Given the description of an element on the screen output the (x, y) to click on. 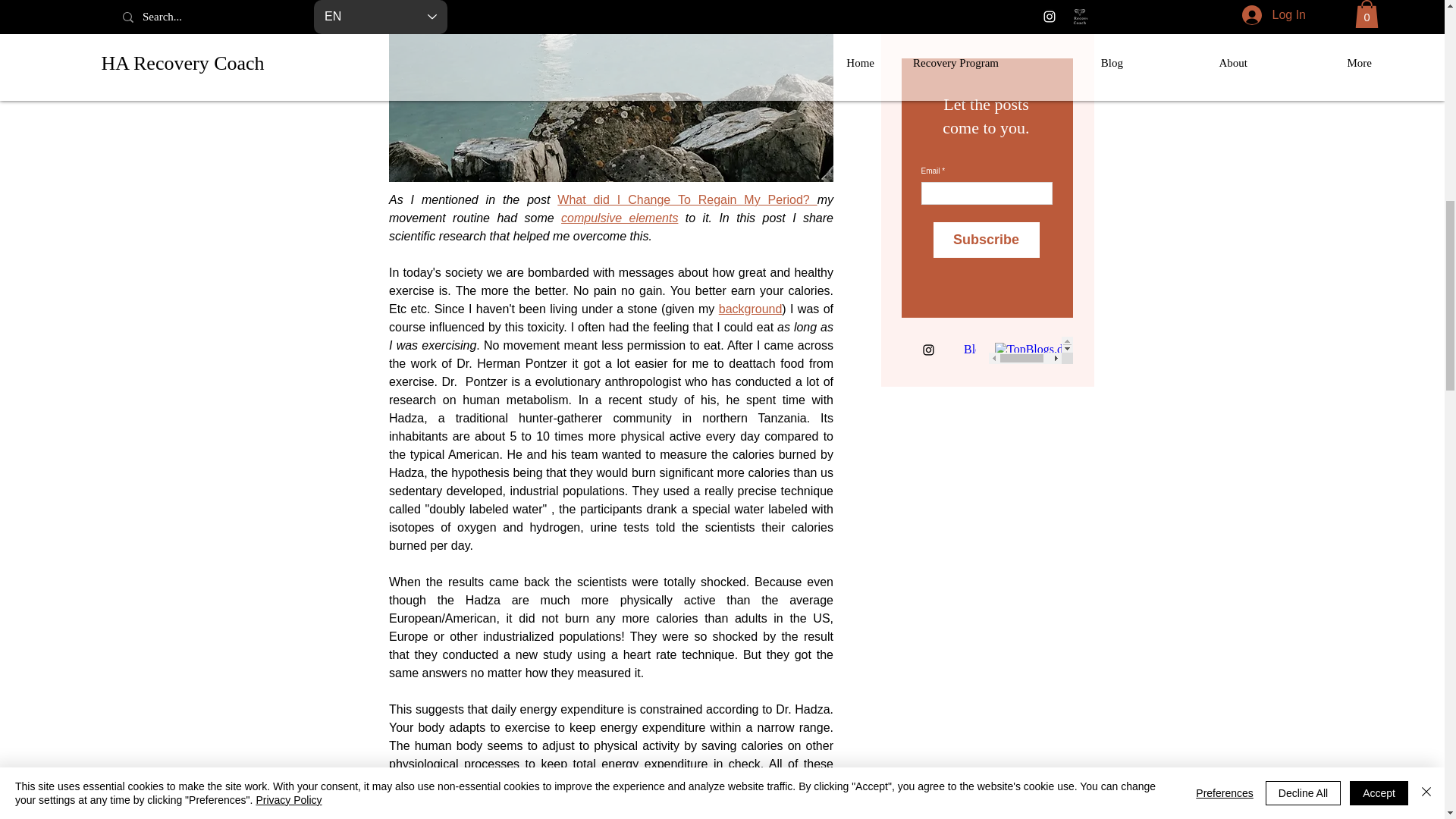
What did I Change To Regain My Period?  (686, 199)
Embedded Content (968, 349)
compulsive elements (619, 217)
background (749, 308)
TopBlogs.de (1030, 349)
